Given the description of an element on the screen output the (x, y) to click on. 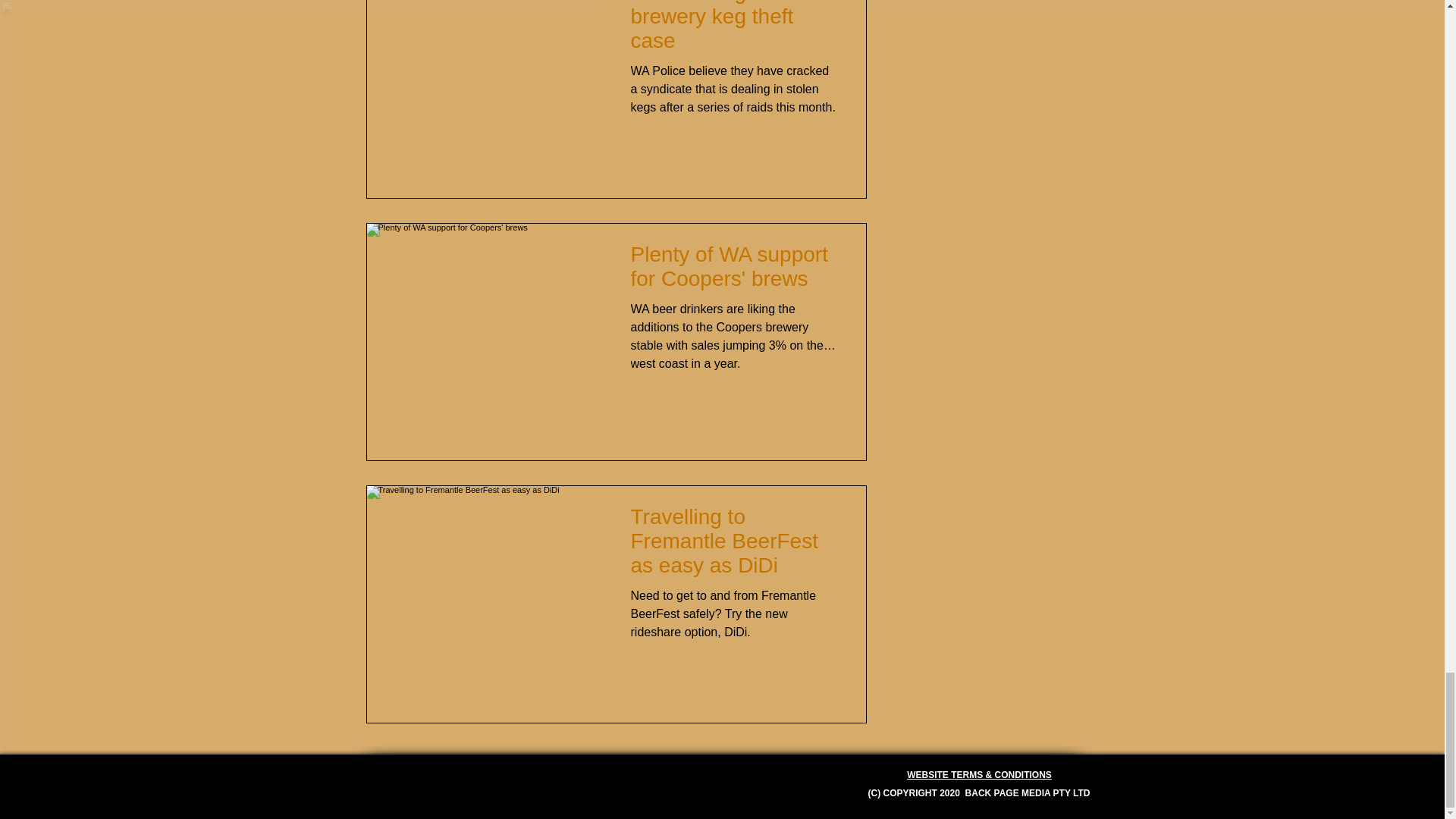
Travelling to Fremantle BeerFest as easy as DiDi (734, 545)
Plenty of WA support for Coopers' brews (734, 270)
Breakthrough in WA brewery keg theft case (734, 31)
